Given the description of an element on the screen output the (x, y) to click on. 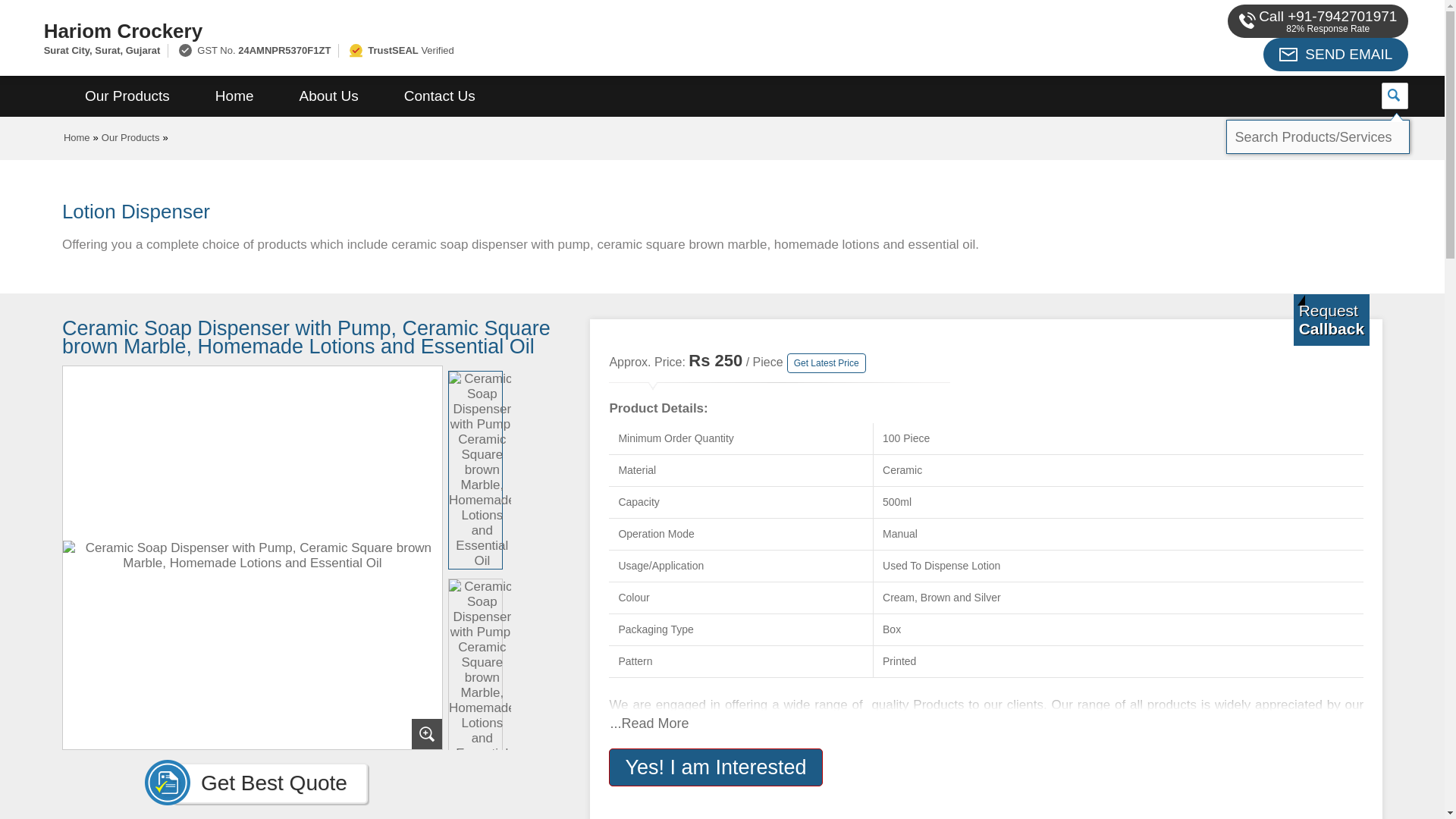
About Us (328, 96)
Home (234, 96)
Home (77, 137)
Our Products (127, 96)
Get a Call from us (1332, 319)
Contact Us (439, 96)
Our Products (130, 137)
Hariom Crockery (480, 31)
